Given the description of an element on the screen output the (x, y) to click on. 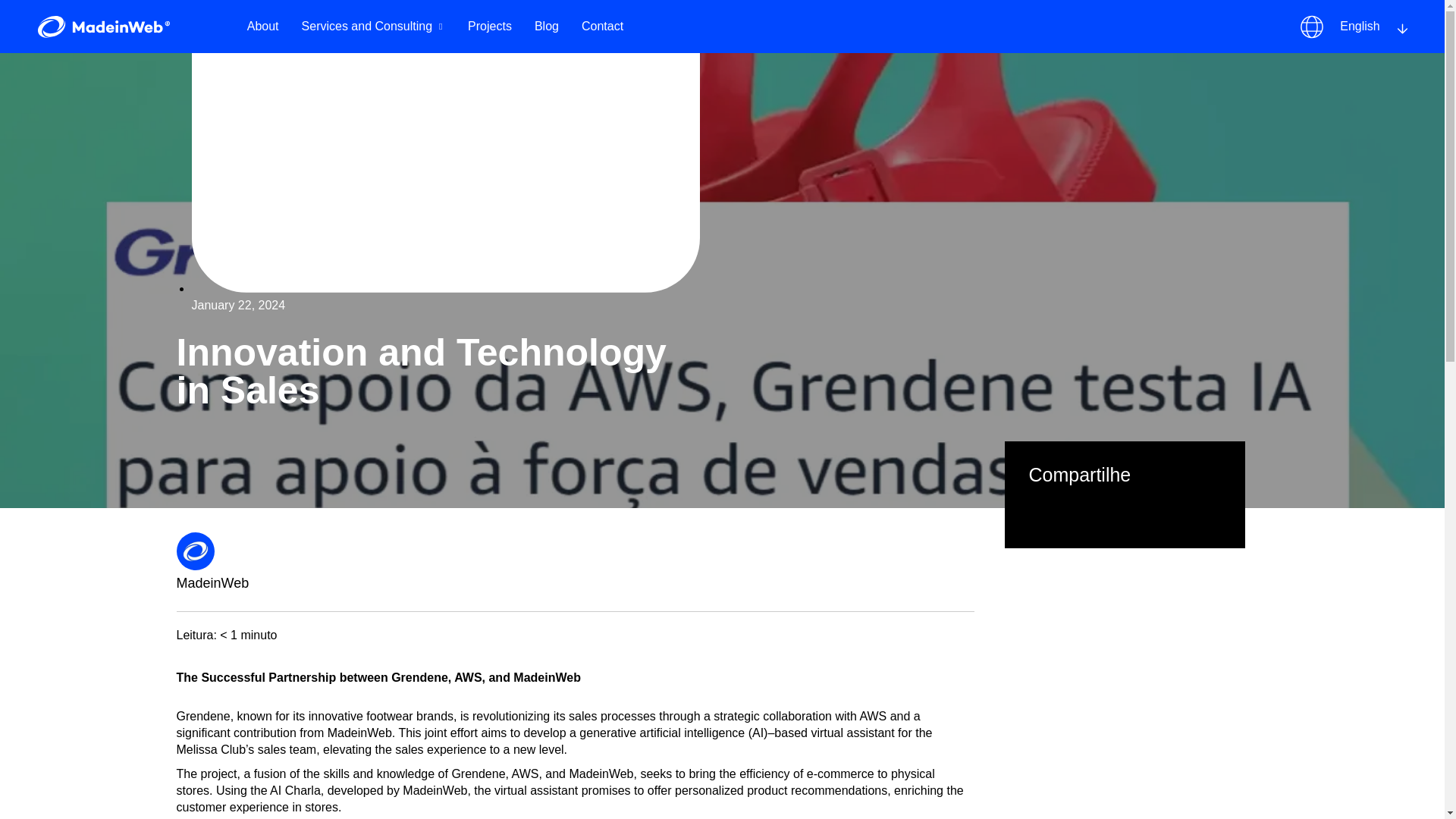
About (263, 26)
English (1353, 26)
Services and Consulting (373, 26)
